Given the description of an element on the screen output the (x, y) to click on. 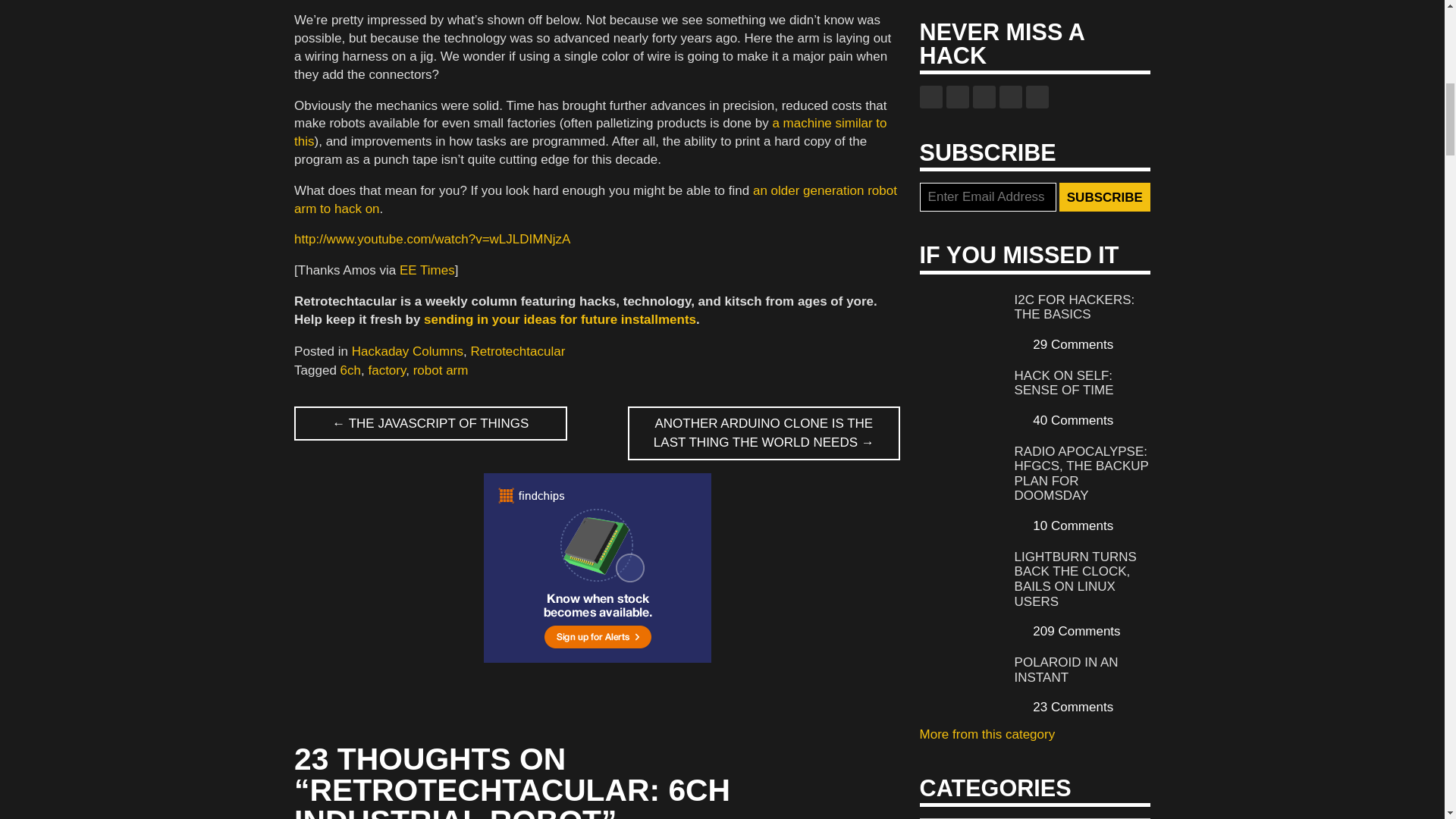
factory (387, 370)
an older generation robot arm to hack on (595, 199)
EE Times (426, 269)
6ch (350, 370)
sending in your ideas for future installments (559, 319)
robot arm (440, 370)
Hackaday Columns (407, 350)
a machine similar to this (590, 132)
Subscribe (1104, 196)
Retrotechtacular (518, 350)
